Given the description of an element on the screen output the (x, y) to click on. 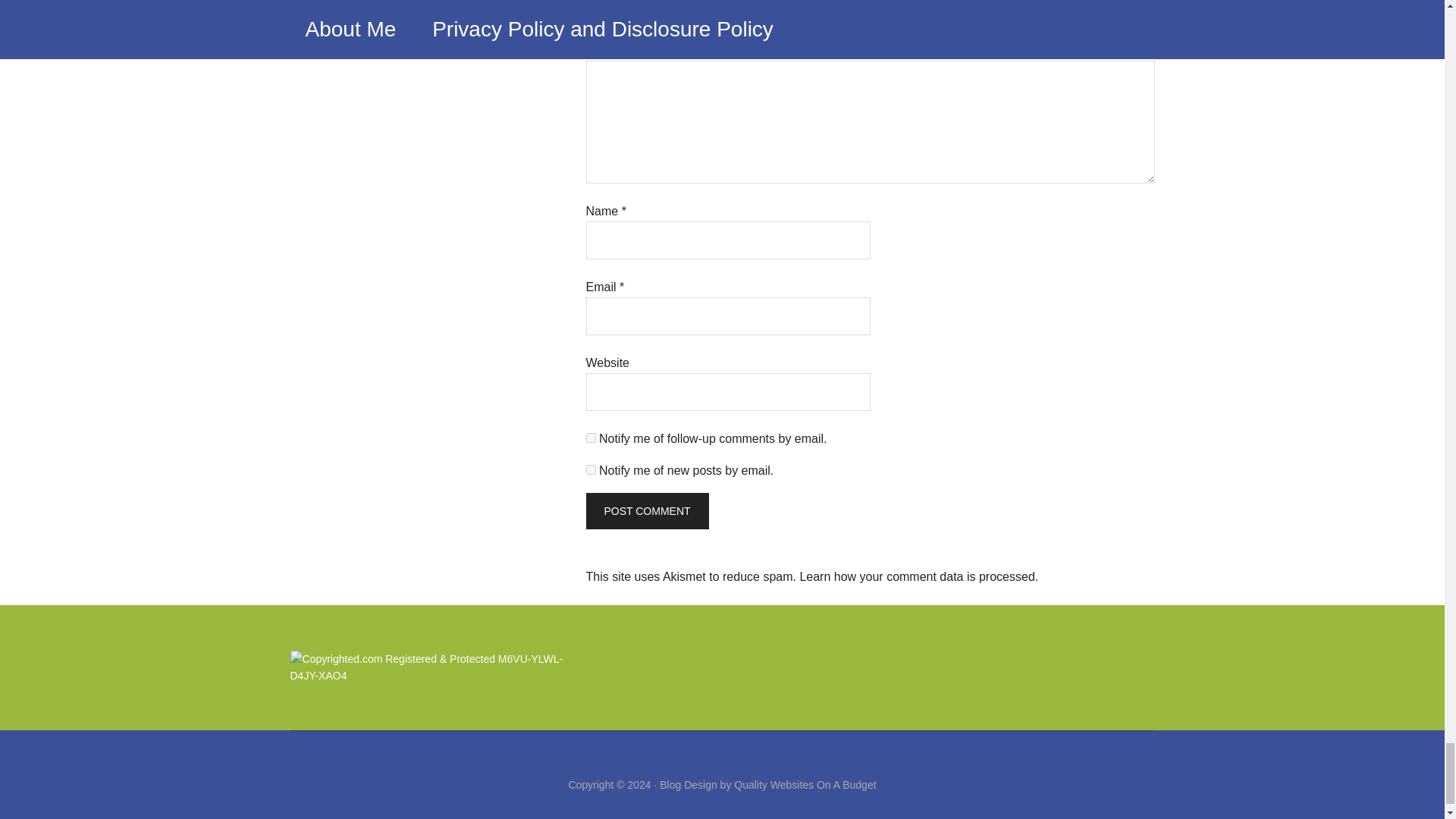
subscribe (590, 438)
subscribe (590, 470)
Post Comment (646, 511)
